Given the description of an element on the screen output the (x, y) to click on. 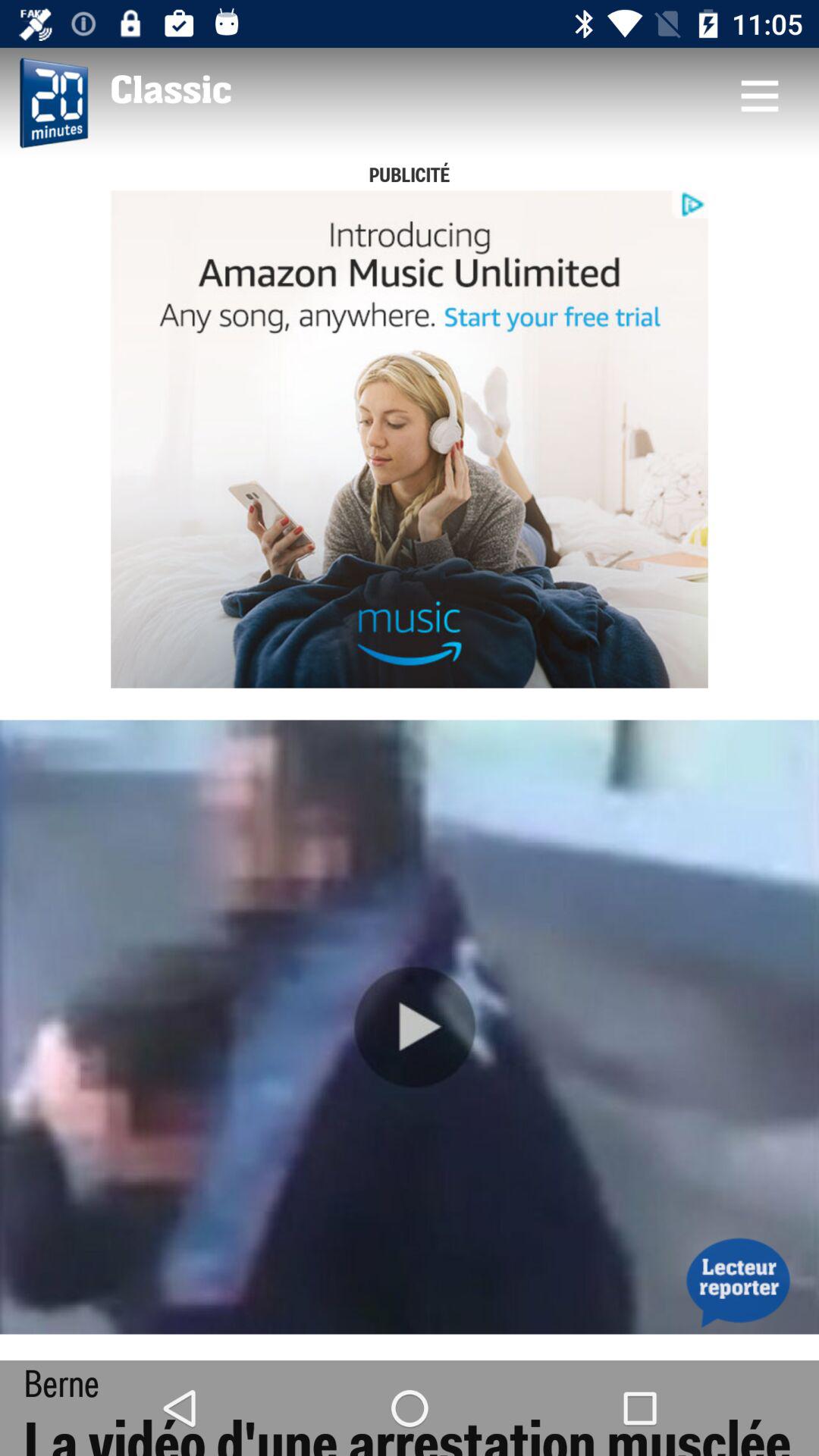
go to advertisement (409, 439)
